Given the description of an element on the screen output the (x, y) to click on. 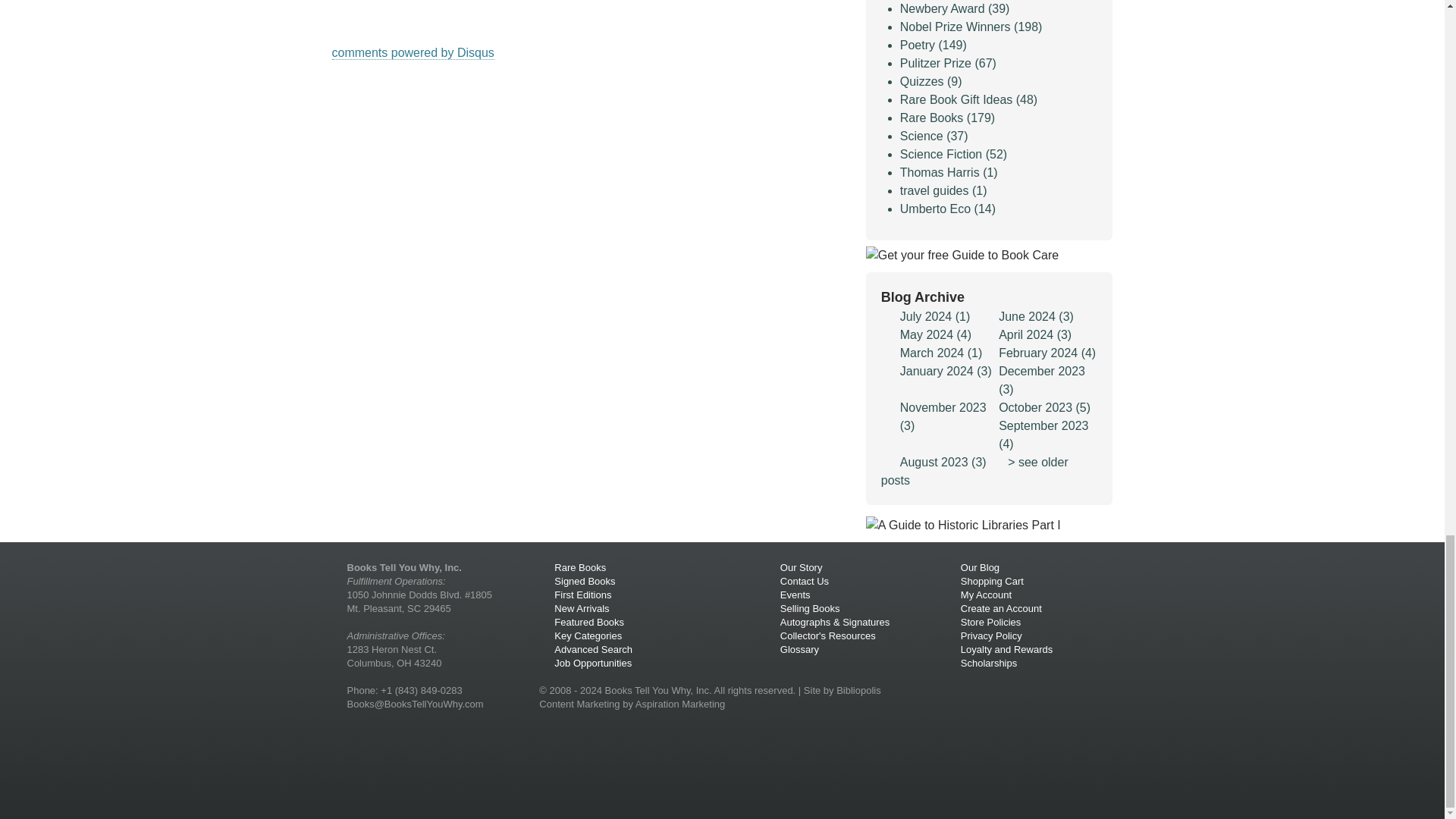
Advanced Search (592, 649)
Our Blog (979, 567)
Signed Books (584, 581)
Events (795, 594)
Featured Books (589, 622)
Job Opportunities (592, 663)
New Arrivals (581, 608)
Glossary (799, 649)
Create an Account (1001, 608)
Contact Us (804, 581)
